Given the description of an element on the screen output the (x, y) to click on. 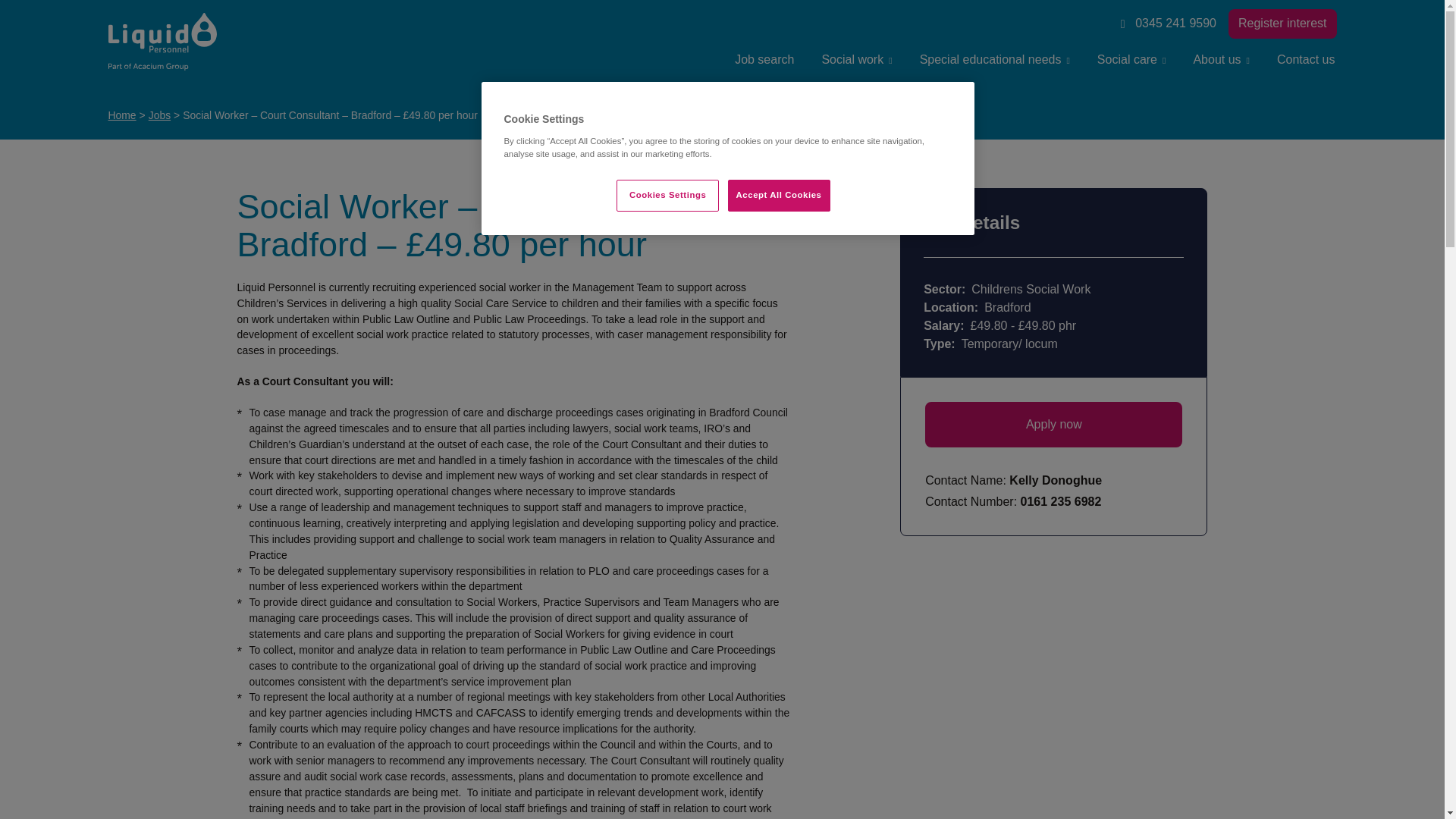
Type (1053, 343)
Special educational needs (994, 59)
Liquid Personnel (161, 42)
About us (1221, 59)
Location (1053, 307)
Contact Number (1053, 502)
Social care (1130, 59)
Sector (1053, 289)
Social work (856, 59)
Contact Name (1053, 482)
Job search (764, 59)
Salary (1053, 325)
Contact us (1305, 59)
Register interest (1282, 23)
